Given the description of an element on the screen output the (x, y) to click on. 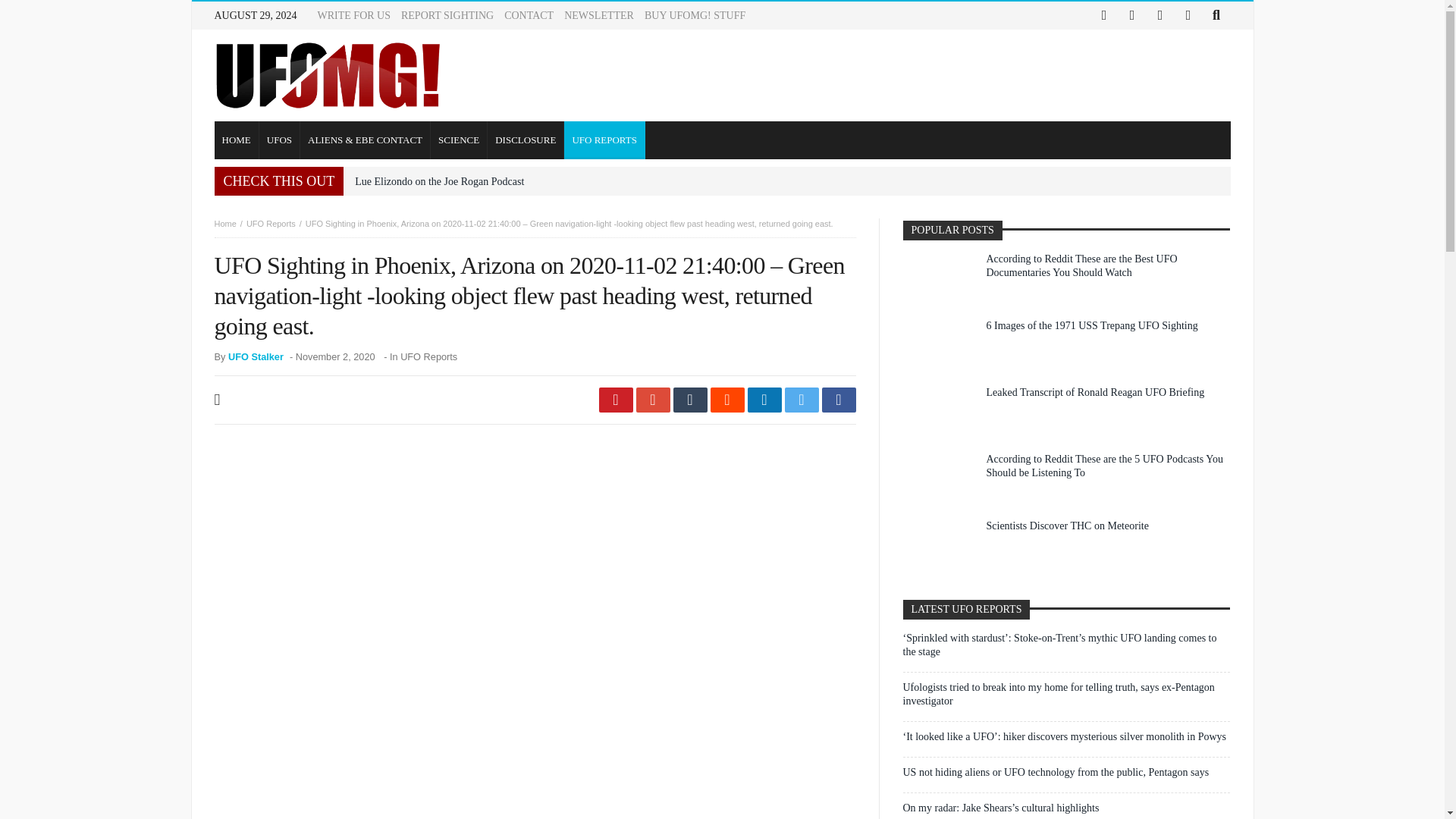
Rss (1187, 15)
BUY UFOMG! STUFF (695, 15)
CONTACT (528, 15)
HOME (236, 139)
Youtube (1160, 15)
NEWSLETTER (598, 15)
Twitter (1131, 15)
Facebook (1104, 15)
REPORT SIGHTING (447, 15)
WRITE FOR US (353, 15)
